Given the description of an element on the screen output the (x, y) to click on. 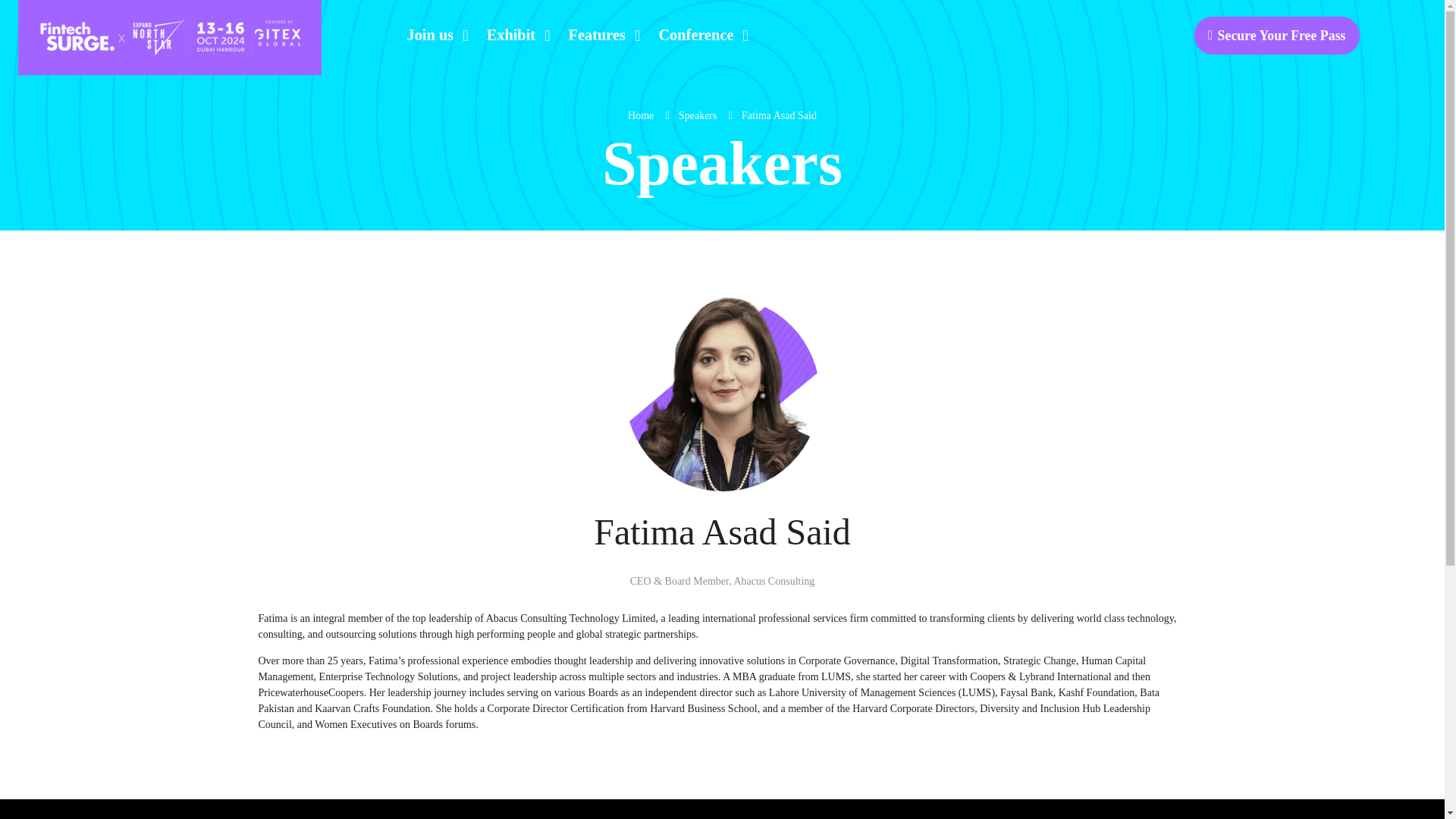
Conference (698, 35)
Home (640, 115)
Speakers (697, 115)
Exhibit (513, 35)
Features (599, 35)
Secure Your Free Pass (1275, 35)
Fatima Asad Said (778, 115)
Join us (432, 35)
